Given the description of an element on the screen output the (x, y) to click on. 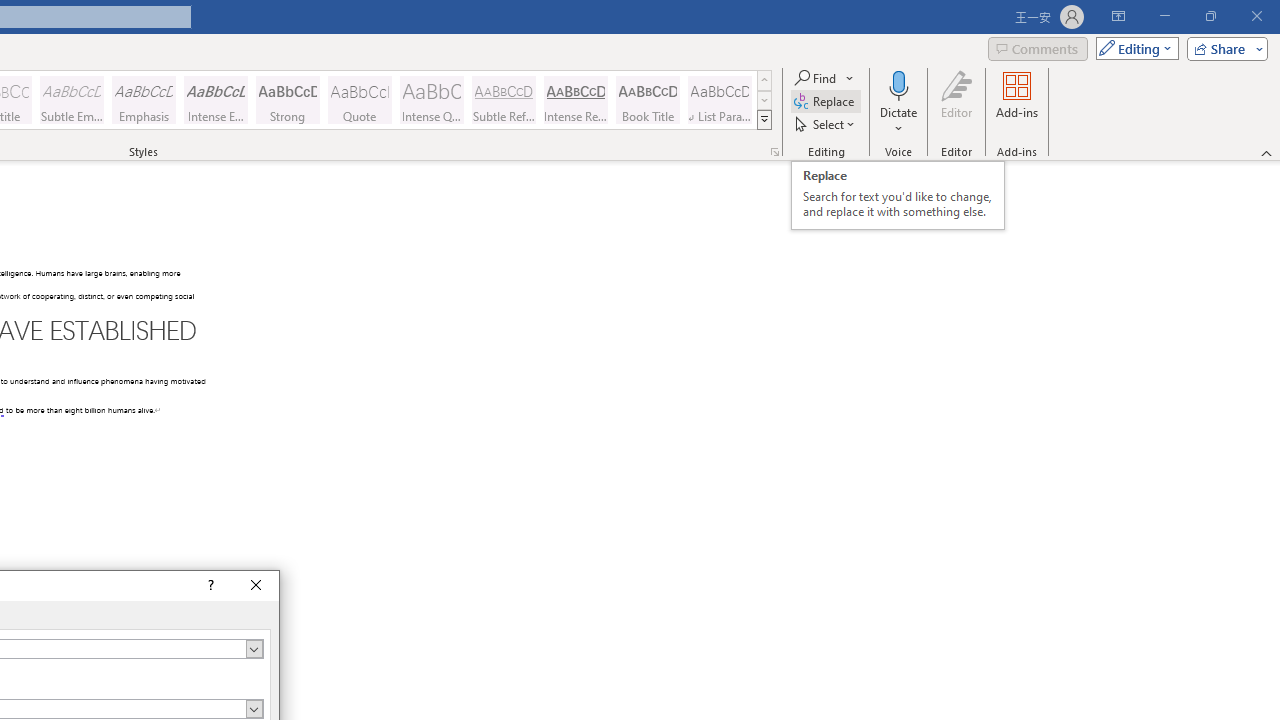
Styles (763, 120)
